Given the description of an element on the screen output the (x, y) to click on. 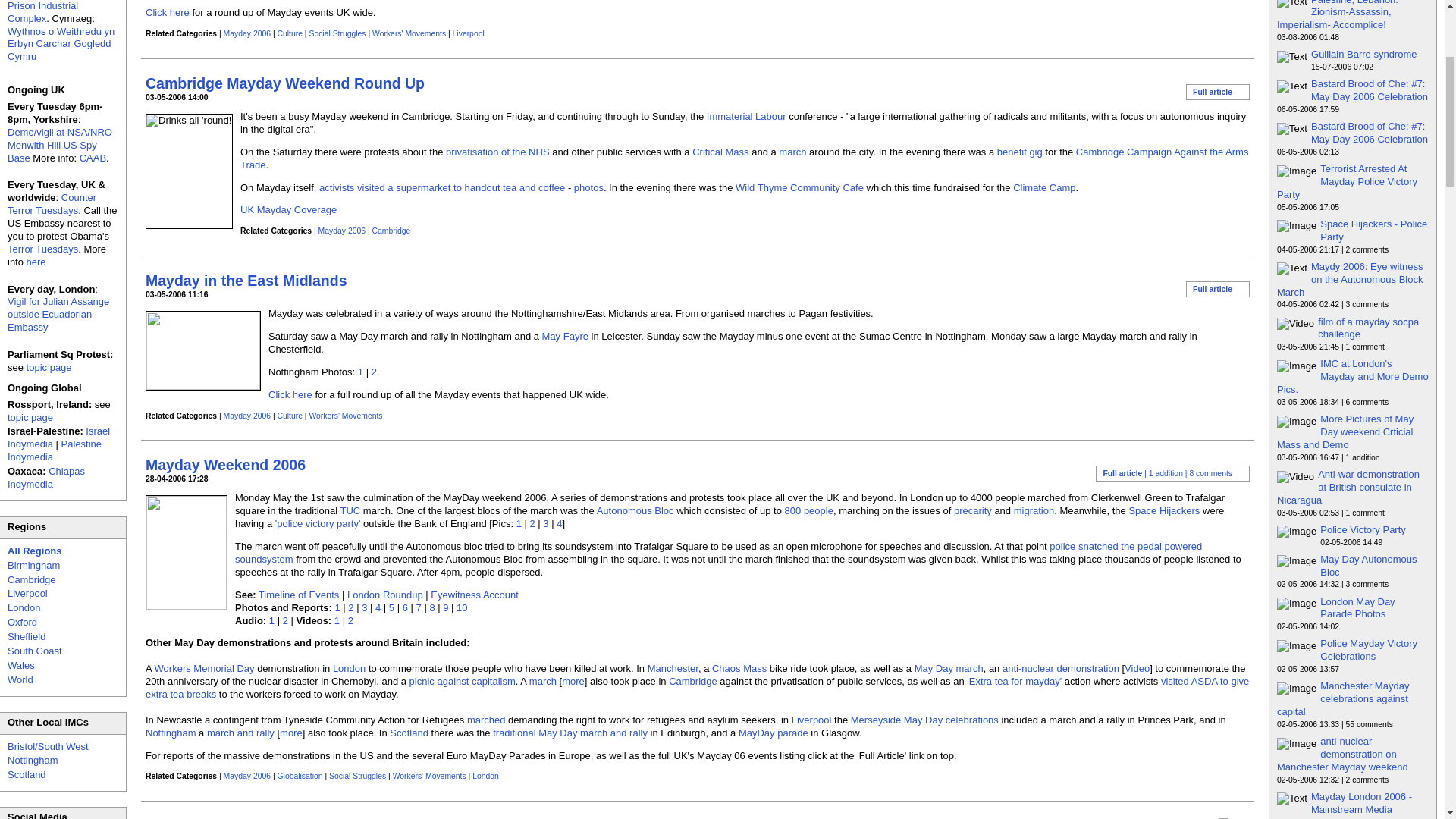
march (792, 152)
Social Struggles (336, 33)
Wild Thyme Community Cafe (799, 187)
activists visited a supermarket to handout tea and coffee (441, 187)
Click here (167, 12)
Climate Camp (1044, 187)
Culture (289, 33)
photos (588, 187)
Cambridge Mayday Weekend Round Up (285, 82)
Cambridge Campaign Against the Arms Trade (743, 158)
privatisation of the NHS (497, 152)
Mayday 2006 (247, 33)
benefit gig (1019, 152)
Workers' Movements (408, 33)
Liverpool (468, 33)
